Given the description of an element on the screen output the (x, y) to click on. 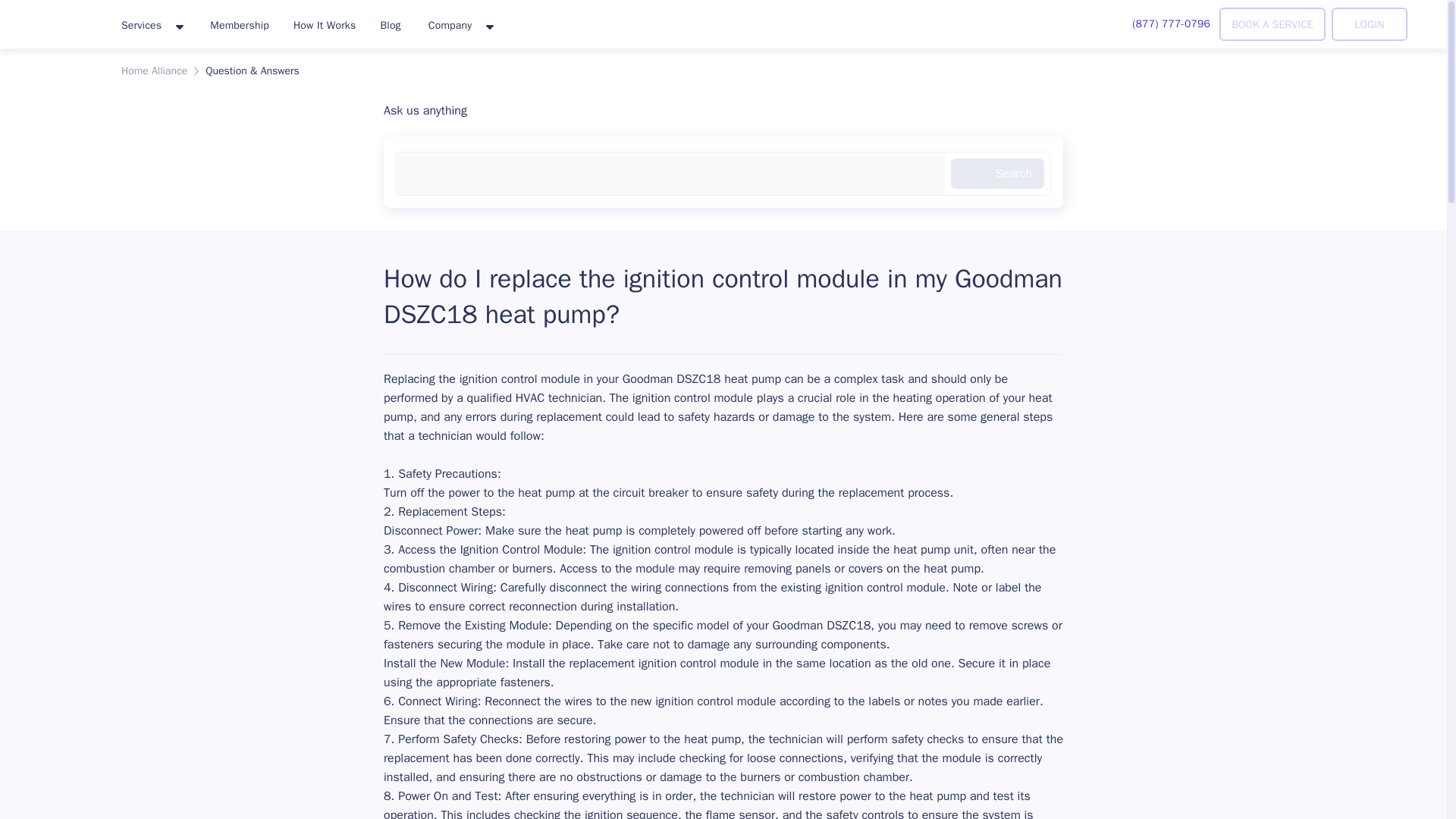
LOGIN (1369, 23)
How It Works (324, 24)
Membership (239, 24)
Services (151, 25)
Company (460, 25)
Home Alliance (153, 70)
Search (996, 173)
BOOK A SERVICE (1272, 23)
HomeAlliance (55, 20)
